Given the description of an element on the screen output the (x, y) to click on. 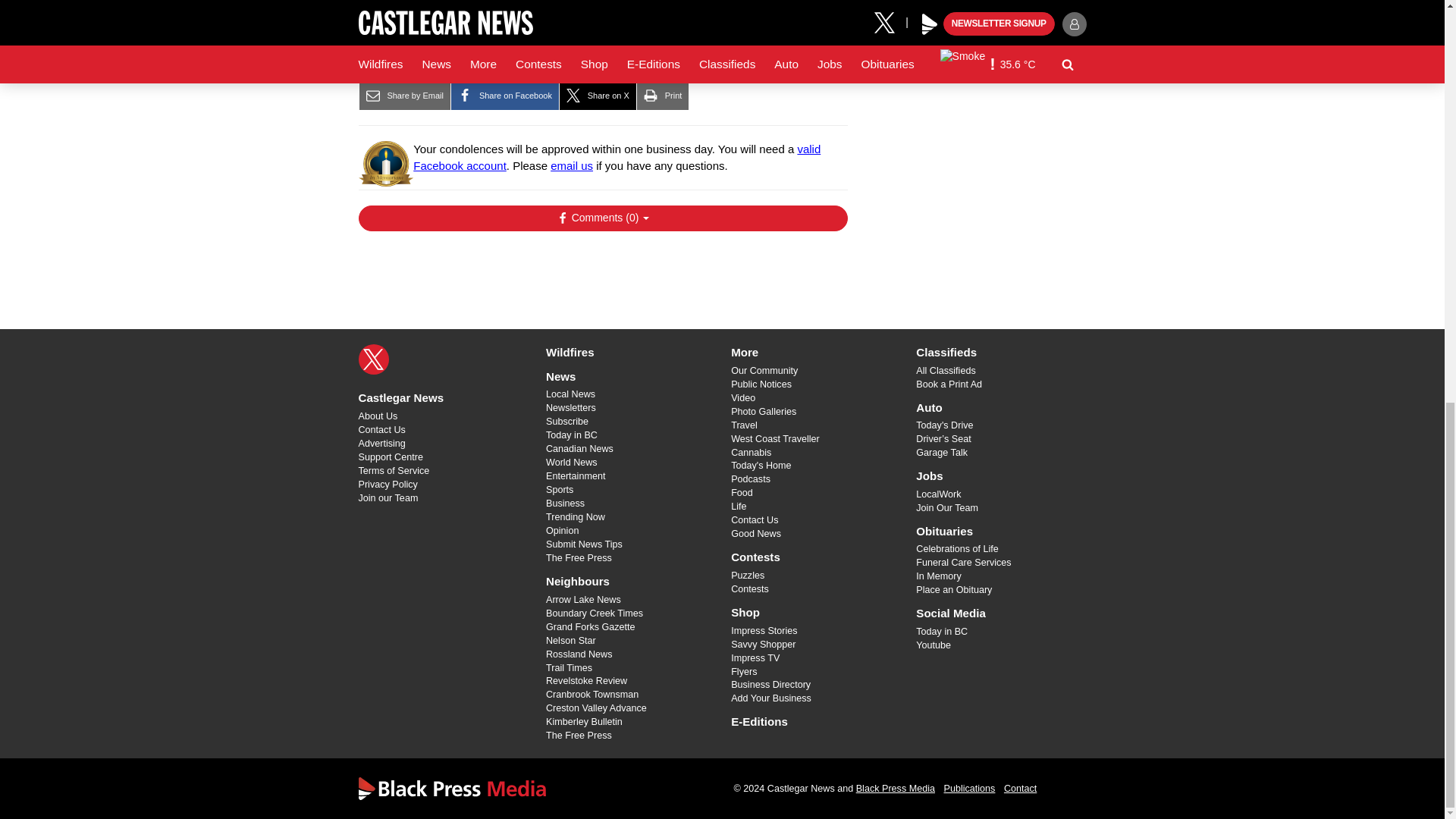
Show Comments (602, 217)
X (373, 358)
